Given the description of an element on the screen output the (x, y) to click on. 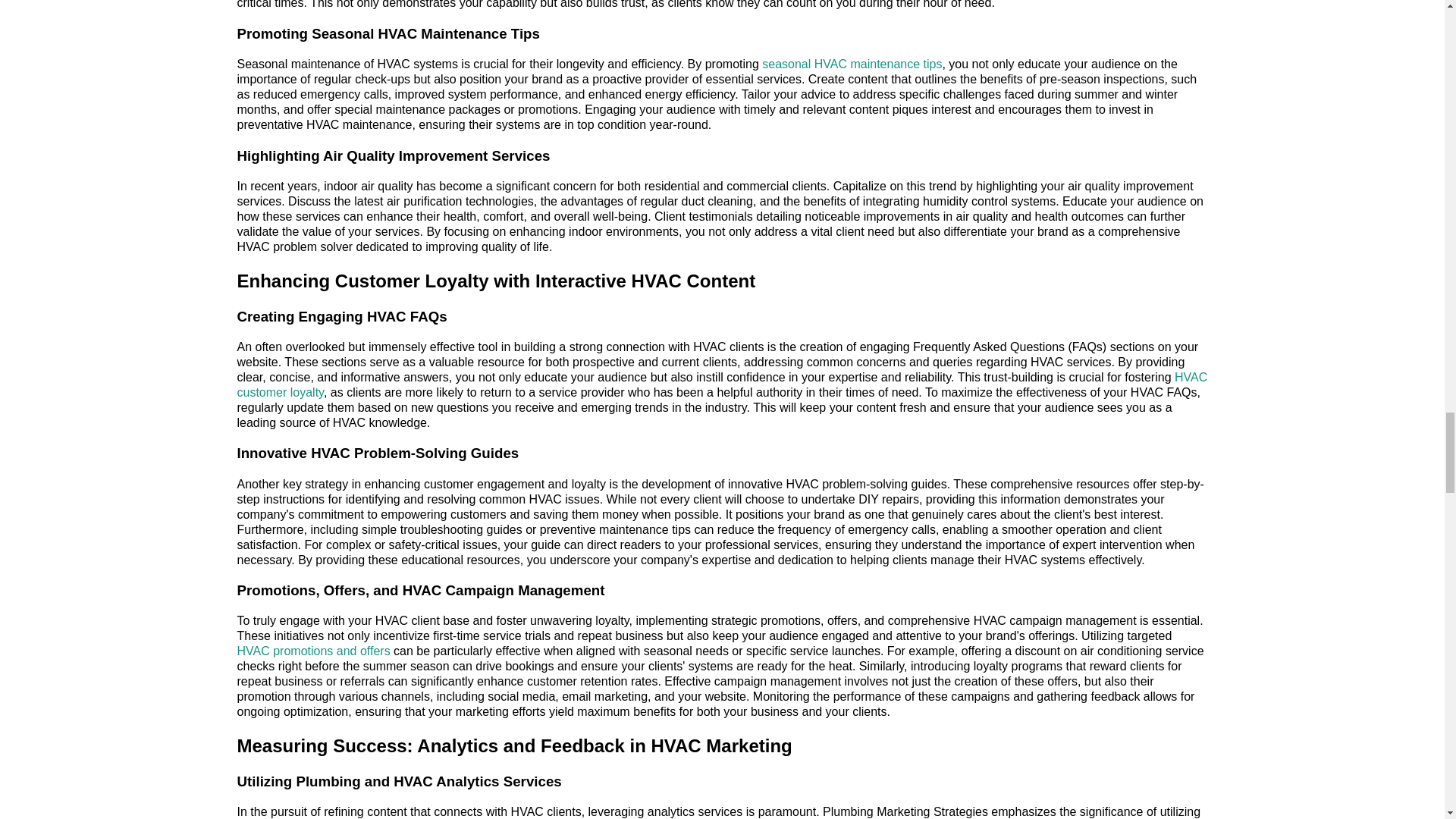
HVAC customer loyalty (721, 384)
seasonal HVAC maintenance tips (851, 63)
HVAC promotions and offers (312, 650)
